Given the description of an element on the screen output the (x, y) to click on. 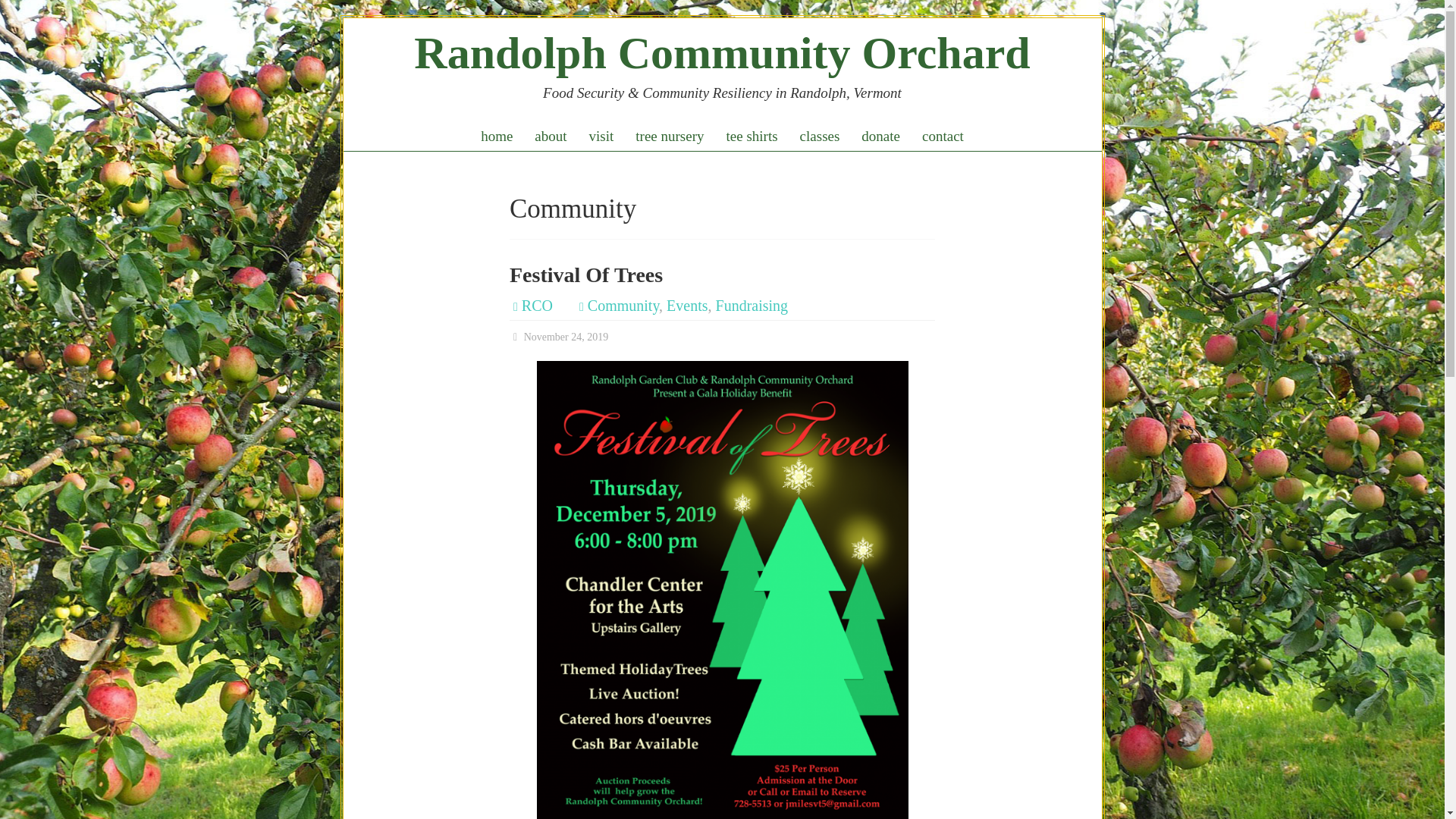
9:44 pm (558, 337)
Festival Of Trees (585, 274)
Community (623, 305)
November 24, 2019 (558, 337)
donate (879, 136)
RCO (537, 305)
Festival Of Trees (585, 274)
home (496, 136)
classes (819, 136)
RCO (537, 305)
tree nursery (669, 136)
visit (601, 136)
tee shirts (752, 136)
Fundraising (752, 305)
